Given the description of an element on the screen output the (x, y) to click on. 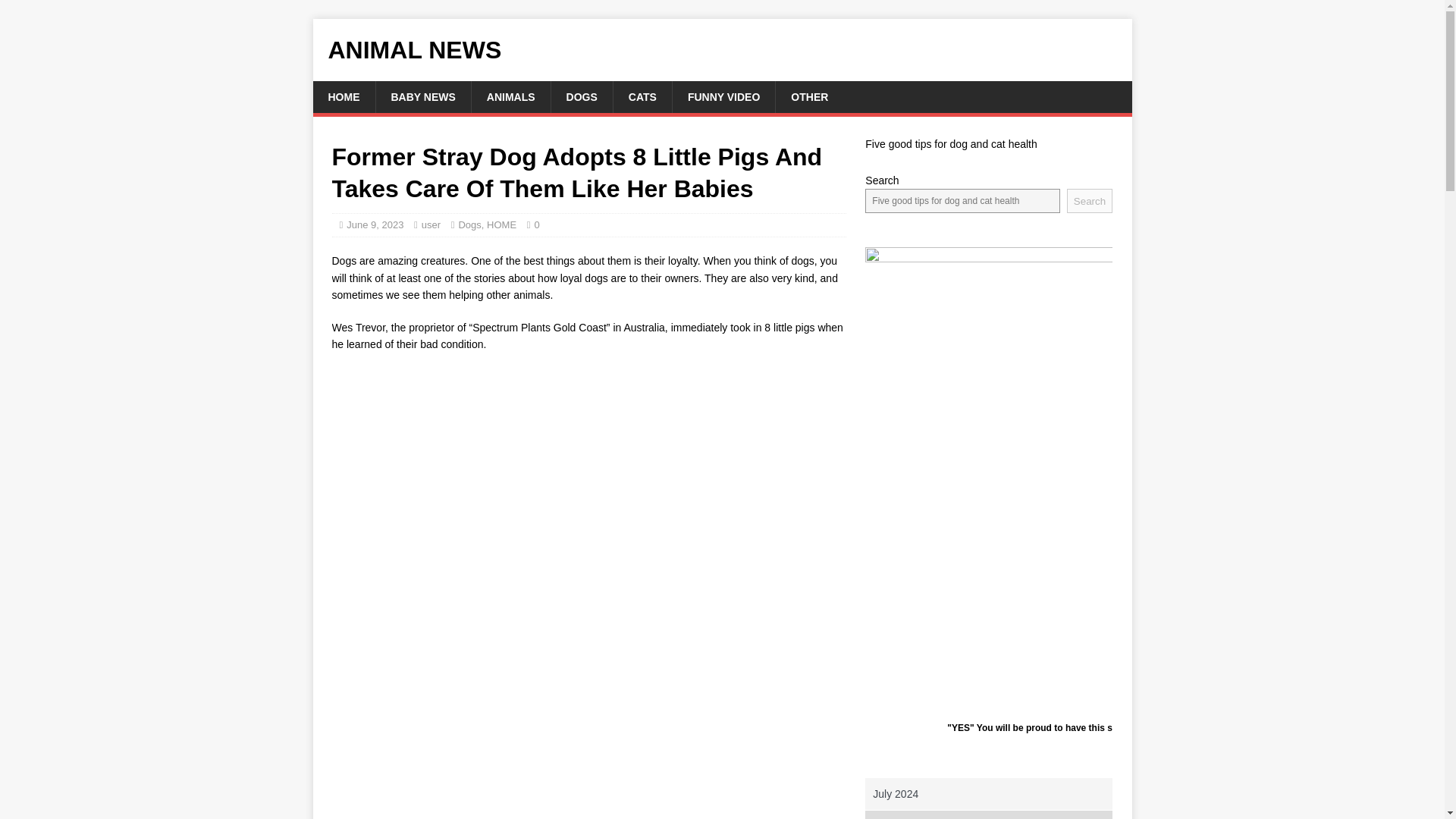
OTHER (808, 97)
ANIMAL NEWS (721, 49)
user (431, 224)
Dogs (469, 224)
FUNNY VIDEO (722, 97)
DOGS (581, 97)
CATS (641, 97)
ANIMALS (510, 97)
ANIMAL NEWS (721, 49)
BABY NEWS (422, 97)
HOME (343, 97)
HOME (501, 224)
June 9, 2023 (374, 224)
